Given the description of an element on the screen output the (x, y) to click on. 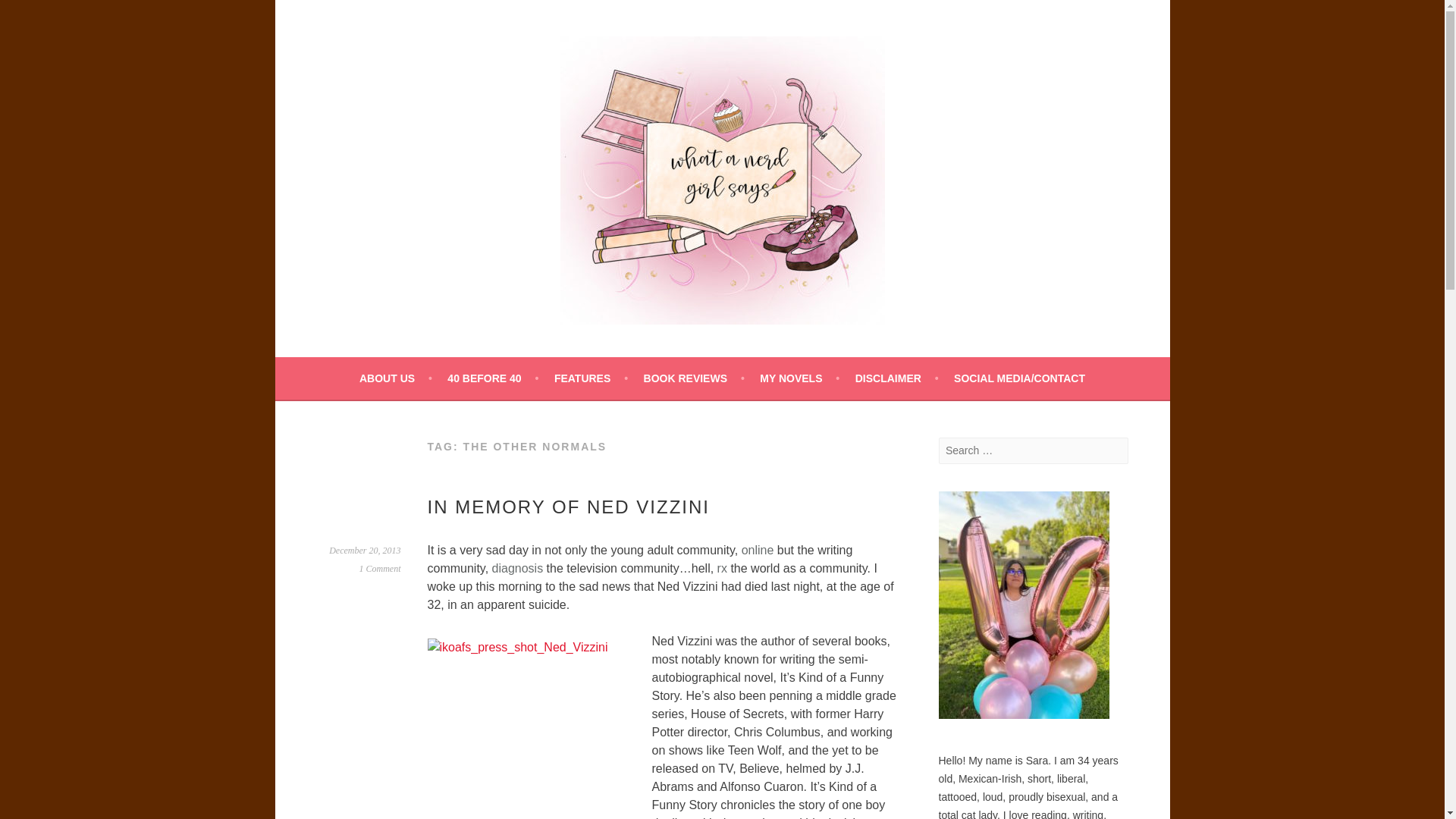
WHAT A NERD GIRL SAYS (498, 365)
BOOK REVIEWS (693, 378)
40 BEFORE 40 (492, 378)
1 Comment (380, 568)
December 20, 2013 (364, 550)
Permalink to In Memory of Ned Vizzini (364, 550)
FEATURES (590, 378)
MY NOVELS (800, 378)
DISCLAIMER (897, 378)
Search (30, 13)
